Given the description of an element on the screen output the (x, y) to click on. 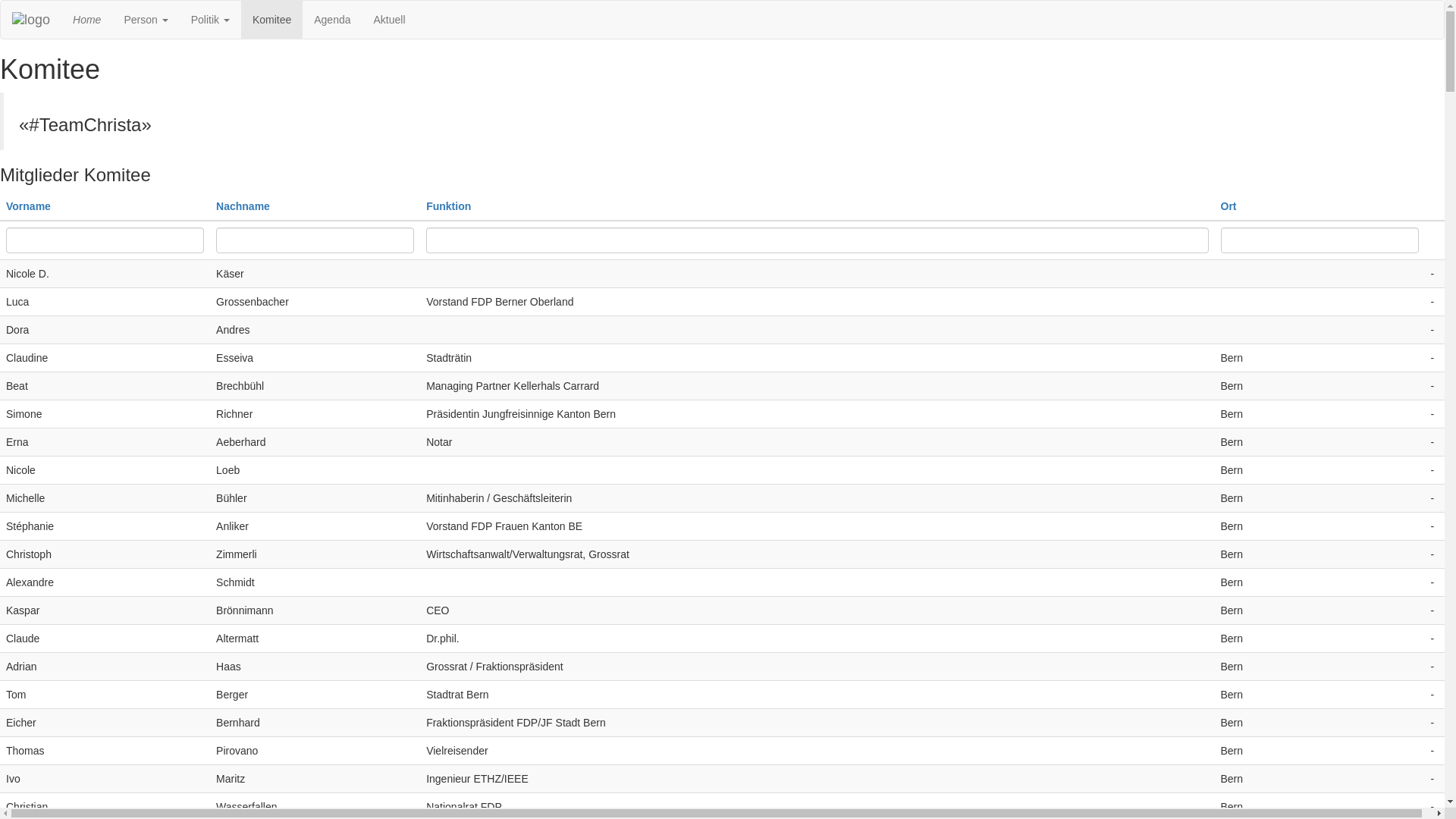
Ort Element type: text (1228, 206)
Home Element type: text (86, 19)
Nachname Element type: text (242, 206)
Komitee Element type: text (271, 19)
Person Element type: text (145, 19)
Funktion Element type: text (448, 206)
Vorname Element type: text (28, 206)
Aktuell Element type: text (389, 19)
Agenda Element type: text (331, 19)
Politik Element type: text (210, 19)
